Given the description of an element on the screen output the (x, y) to click on. 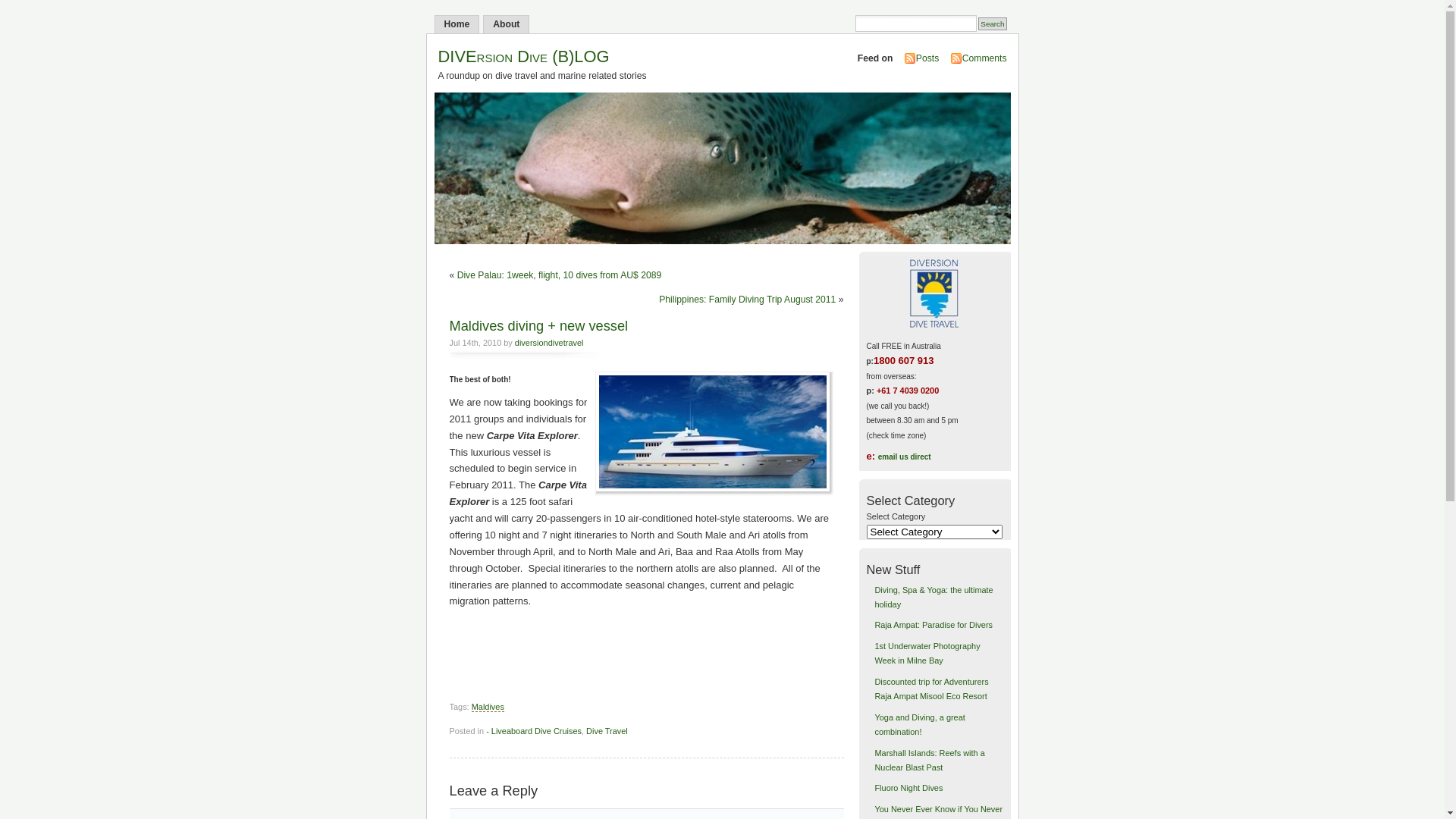
diversiondivetravel Element type: text (548, 342)
Maldives Element type: text (487, 707)
Home Element type: text (456, 24)
- Liveaboard Dive Cruises Element type: text (533, 730)
1st Underwater Photography Week in Milne Bay Element type: text (926, 653)
Raja Ampat: Paradise for Divers Element type: text (933, 624)
Carpe Vita Explorer Element type: hover (714, 433)
Marshall Islands: Reefs with a Nuclear Blast Past Element type: text (929, 759)
Posts Element type: text (927, 58)
Dive Travel Element type: text (606, 730)
Discounted trip for Adventurers Raja Ampat Misool Eco Resort Element type: text (931, 688)
Diving, Spa & Yoga: the ultimate holiday Element type: text (933, 596)
Fluoro Night Dives Element type: text (908, 787)
Maldives diving + new vessel Element type: text (537, 325)
DIVErsion Dive (B)LOG Element type: text (523, 56)
Search Element type: text (992, 23)
Philippines: Family Diving Trip August 2011 Element type: text (746, 299)
About Element type: text (506, 24)
email us direct Element type: text (904, 455)
Comments Element type: text (984, 58)
Dive Palau: 1week, flight, 10 dives from AU$ 2089 Element type: text (559, 274)
Yoga and Diving, a great combination! Element type: text (919, 724)
